Given the description of an element on the screen output the (x, y) to click on. 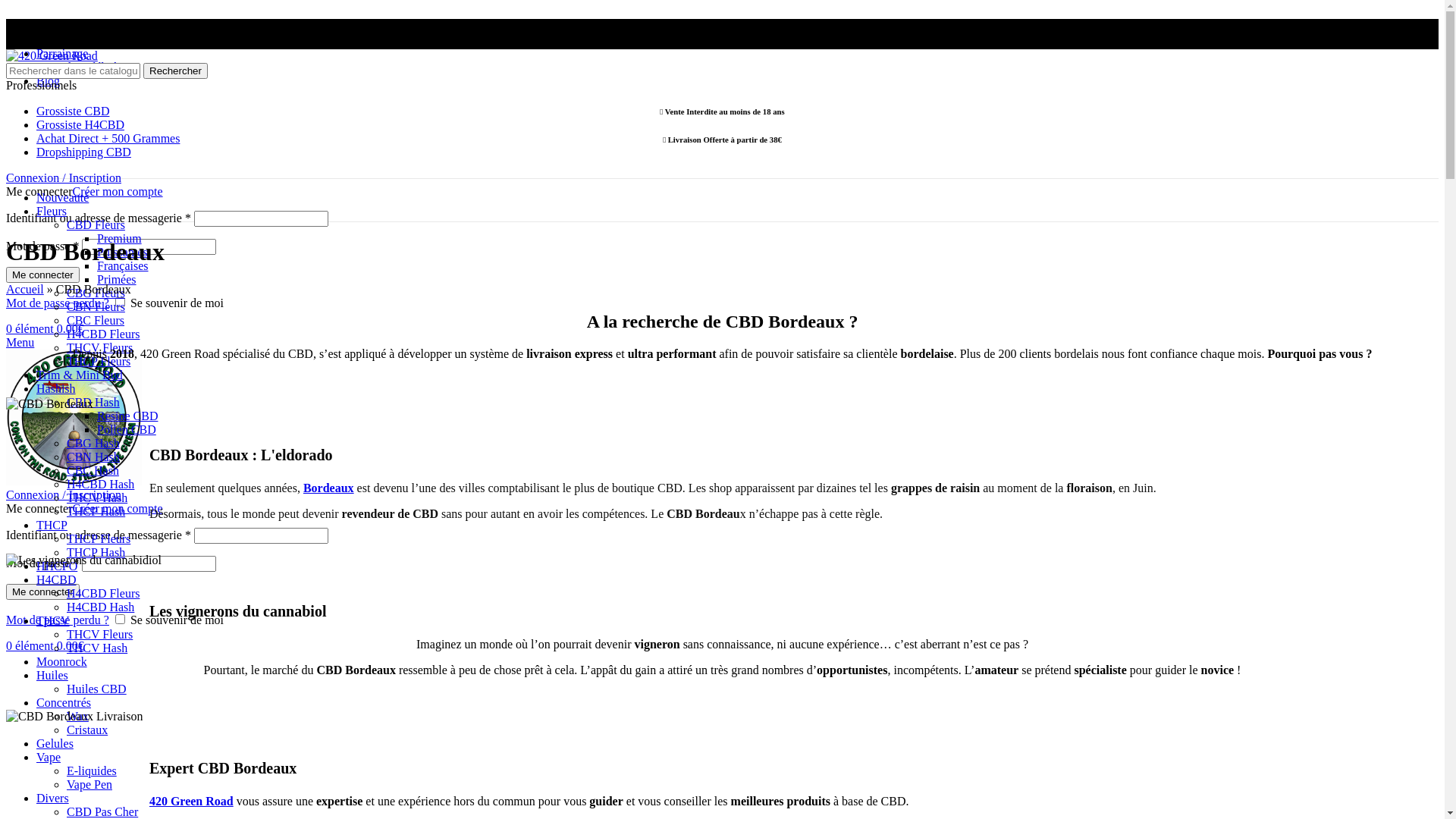
Trim & Mini Bud Element type: text (79, 374)
CBG Fleurs Element type: text (95, 292)
THCV Hash Element type: text (96, 497)
Moonrock Element type: text (61, 661)
Achat Direct + 500 Grammes Element type: text (107, 137)
THCP Hash Element type: text (95, 552)
CBG Hash Element type: text (92, 442)
Me connecter Element type: text (42, 274)
CBN Hash Element type: text (92, 456)
Se souvenir de moi Element type: hover (120, 302)
Hashish Element type: text (55, 388)
CBD Hash Element type: text (92, 401)
H4CBD Fleurs Element type: text (102, 592)
H4CBD Hash Element type: text (100, 606)
Vape Element type: text (48, 756)
CBD Pas Cher Element type: text (102, 811)
CBC Hash Element type: text (92, 470)
c95f2f89d2f26bd5f2f89d2f2816f2v-960x640 Element type: hover (74, 716)
Blog Element type: text (47, 80)
Grossiste CBD Element type: text (72, 110)
Premium Element type: text (119, 238)
Vape Pen Element type: text (89, 784)
Huiles Element type: text (52, 674)
Gelules Element type: text (54, 743)
420 Green Road Element type: text (191, 800)
THCV Fleurs Element type: text (99, 633)
Pollen CBD Element type: text (126, 429)
Accueil Element type: text (24, 288)
Connexion / Inscription Element type: text (63, 177)
H4CBD Element type: text (55, 579)
Dropshipping CBD Element type: text (83, 151)
Resine CBD Element type: text (127, 415)
HHCPO Element type: text (56, 565)
THCP Fleurs Element type: text (98, 360)
Puissantes Element type: text (122, 251)
THCV Element type: text (52, 620)
Cristaux Element type: text (86, 729)
E-liquides Element type: text (91, 770)
Me connecter Element type: text (42, 591)
Bordeaux Element type: text (328, 487)
Mot de passe perdu ? Element type: text (57, 619)
Se souvenir de moi Element type: hover (120, 619)
Mot de passe perdu ? Element type: text (57, 302)
H4CBD Hash Element type: text (100, 483)
CBN Fleurs Element type: text (95, 306)
Destination_Vignoble_Saint_Emilion_01 Element type: hover (83, 560)
Divers Element type: text (52, 797)
THCP Fleurs Element type: text (98, 538)
H4CBD Fleurs Element type: text (102, 333)
Grossiste H4CBD Element type: text (80, 124)
CBD Fleurs Element type: text (95, 224)
Fleurs Element type: text (51, 210)
Menu Element type: text (20, 341)
Wax Element type: text (77, 715)
THCP Hash Element type: text (95, 511)
Huiles CBD Element type: text (96, 688)
CBC Fleurs Element type: text (95, 319)
Rechercher dans le catalogue Element type: hover (73, 70)
Parrainage Element type: text (61, 53)
THCV Hash Element type: text (96, 647)
Rechercher Element type: text (175, 70)
THCP Element type: text (51, 524)
THCV Fleurs Element type: text (99, 347)
Connexion / Inscription Element type: text (63, 494)
Bordeaux_(2418988310) Element type: hover (49, 404)
